Given the description of an element on the screen output the (x, y) to click on. 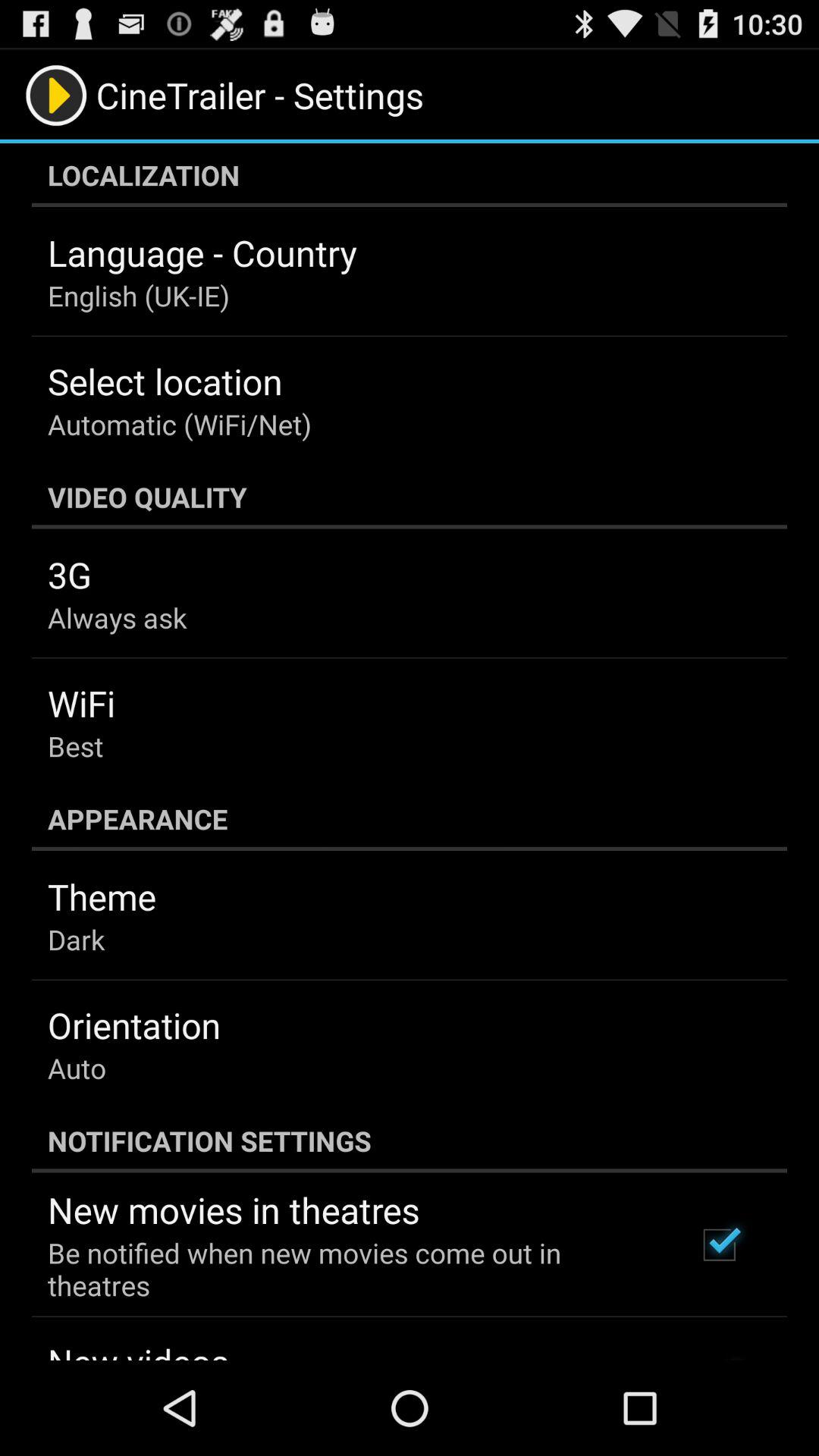
open icon above the appearance (75, 745)
